Given the description of an element on the screen output the (x, y) to click on. 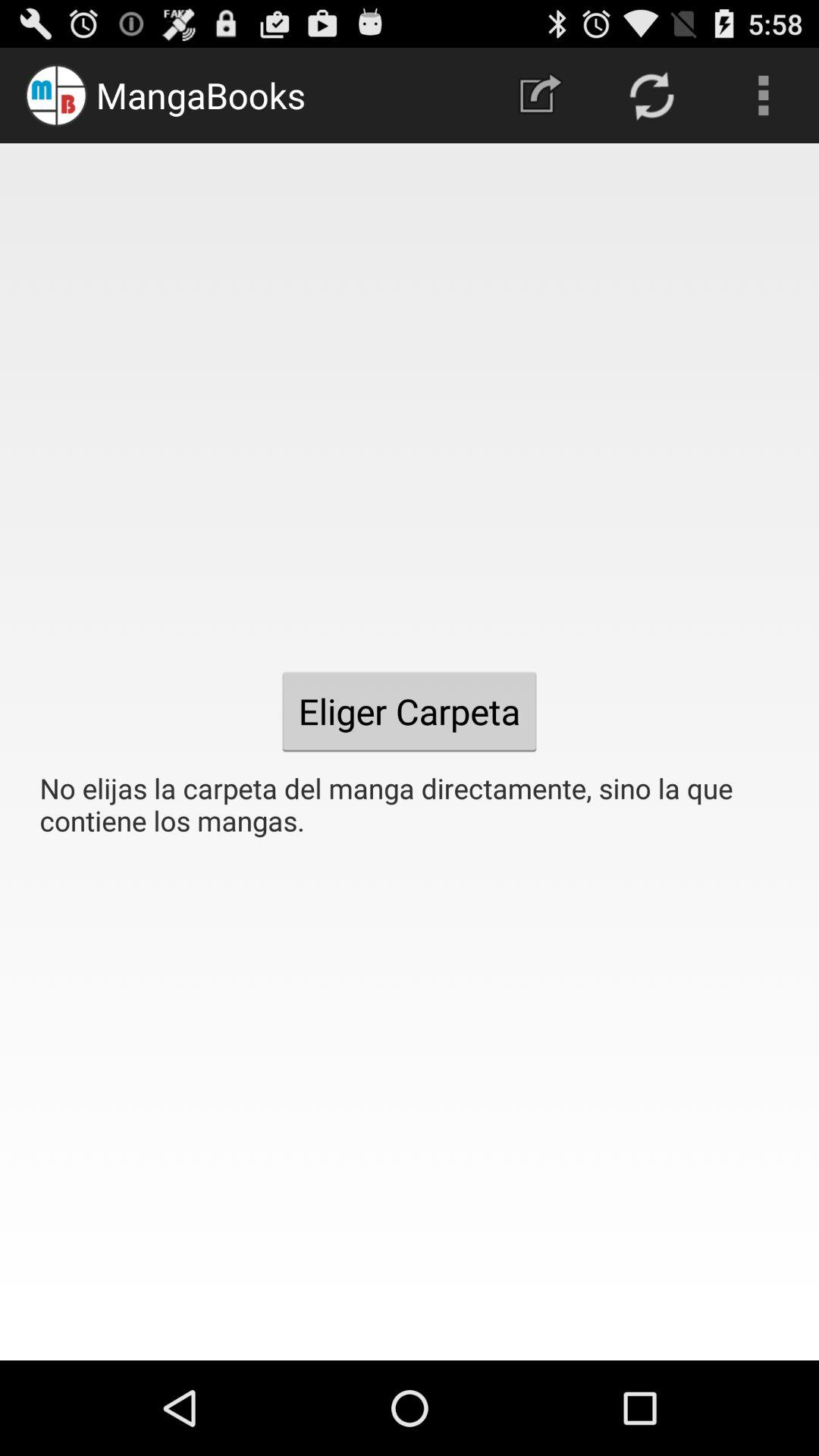
select the item above the no elijas la icon (651, 95)
